Given the description of an element on the screen output the (x, y) to click on. 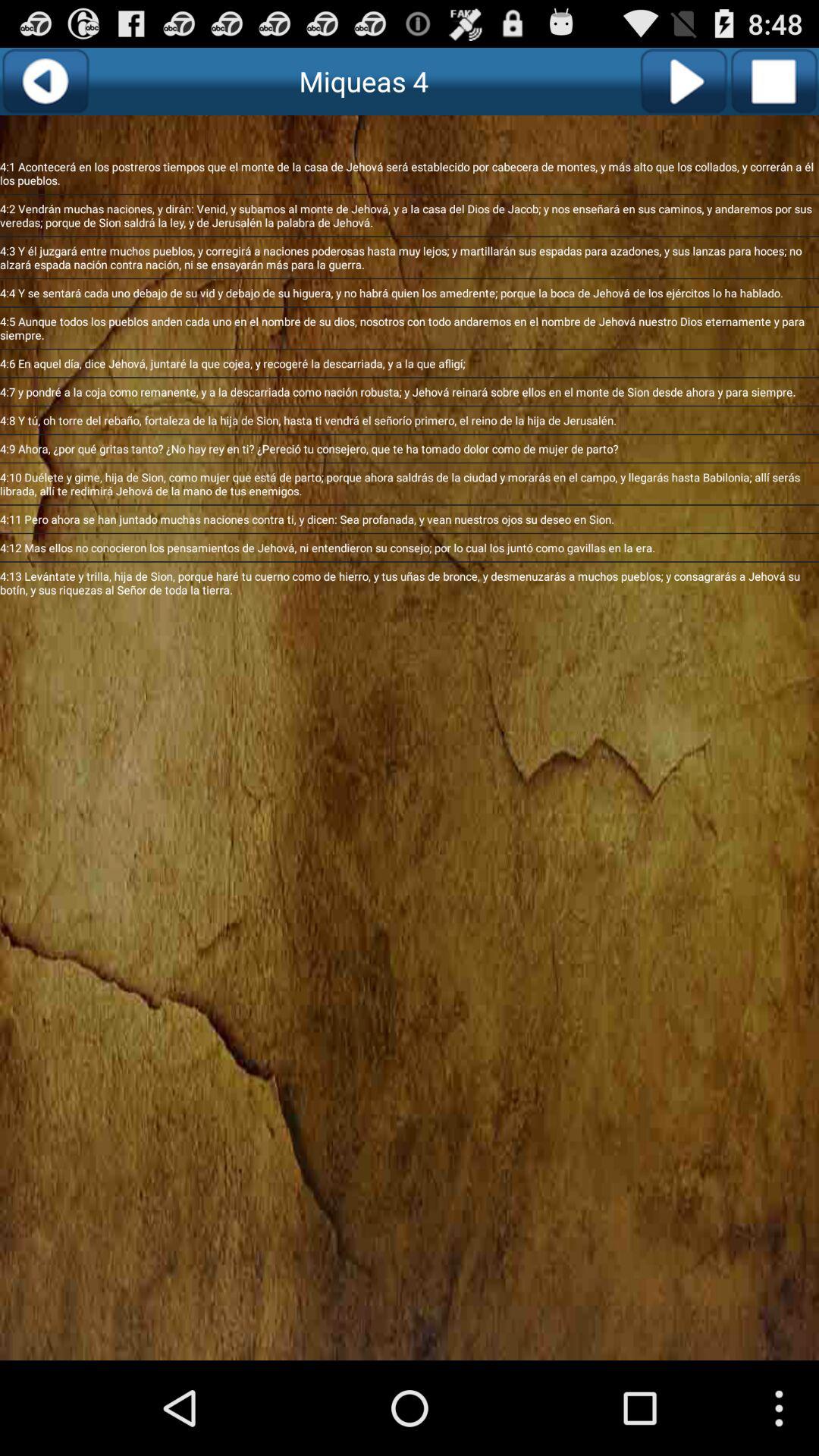
launch app to the right of miqueas 4 icon (683, 81)
